Given the description of an element on the screen output the (x, y) to click on. 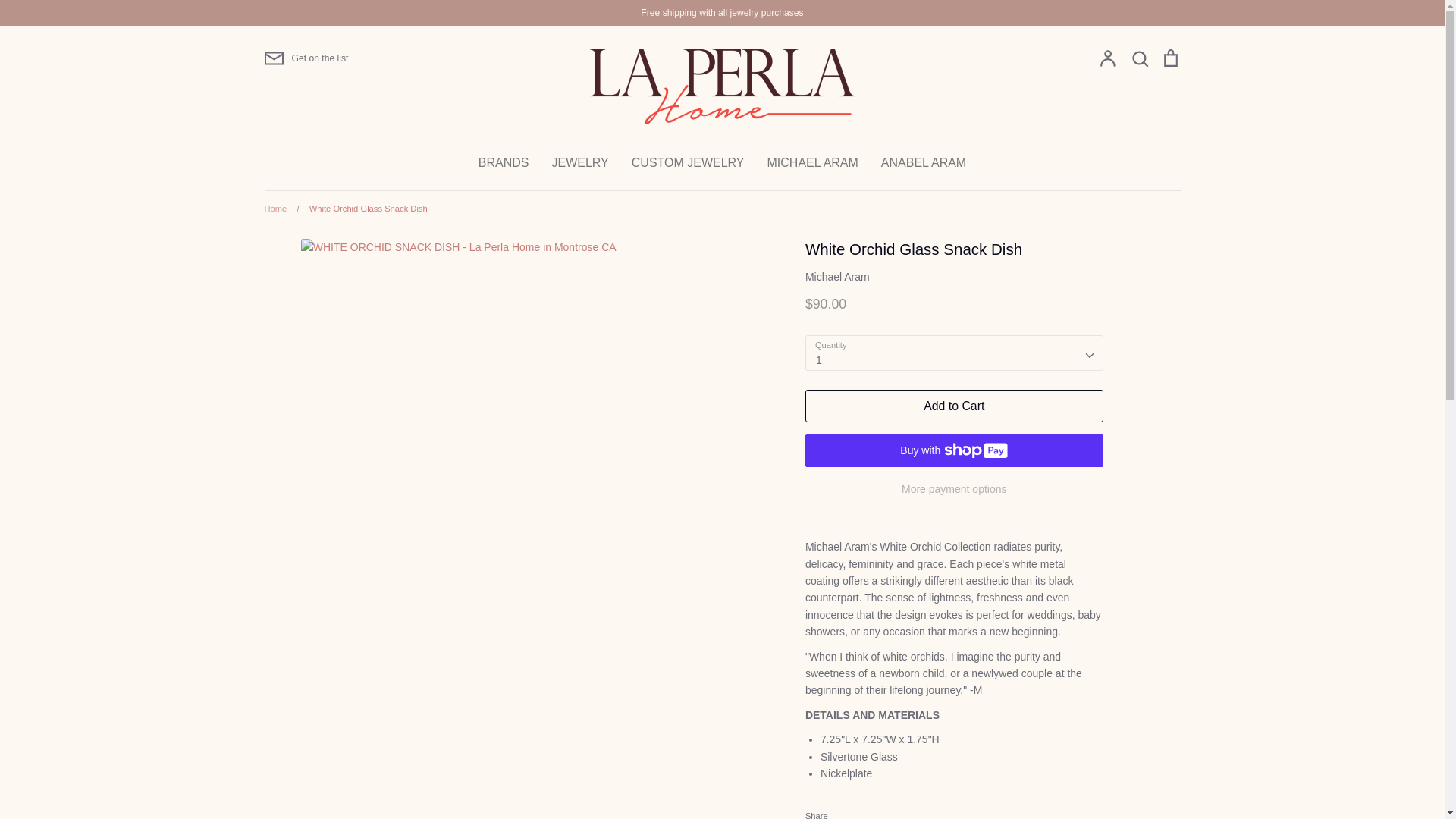
Get on the list (305, 57)
Cart (1169, 57)
1 (954, 352)
Search (1139, 57)
JEWELRY (579, 162)
Account (1107, 57)
BRANDS (504, 162)
